Given the description of an element on the screen output the (x, y) to click on. 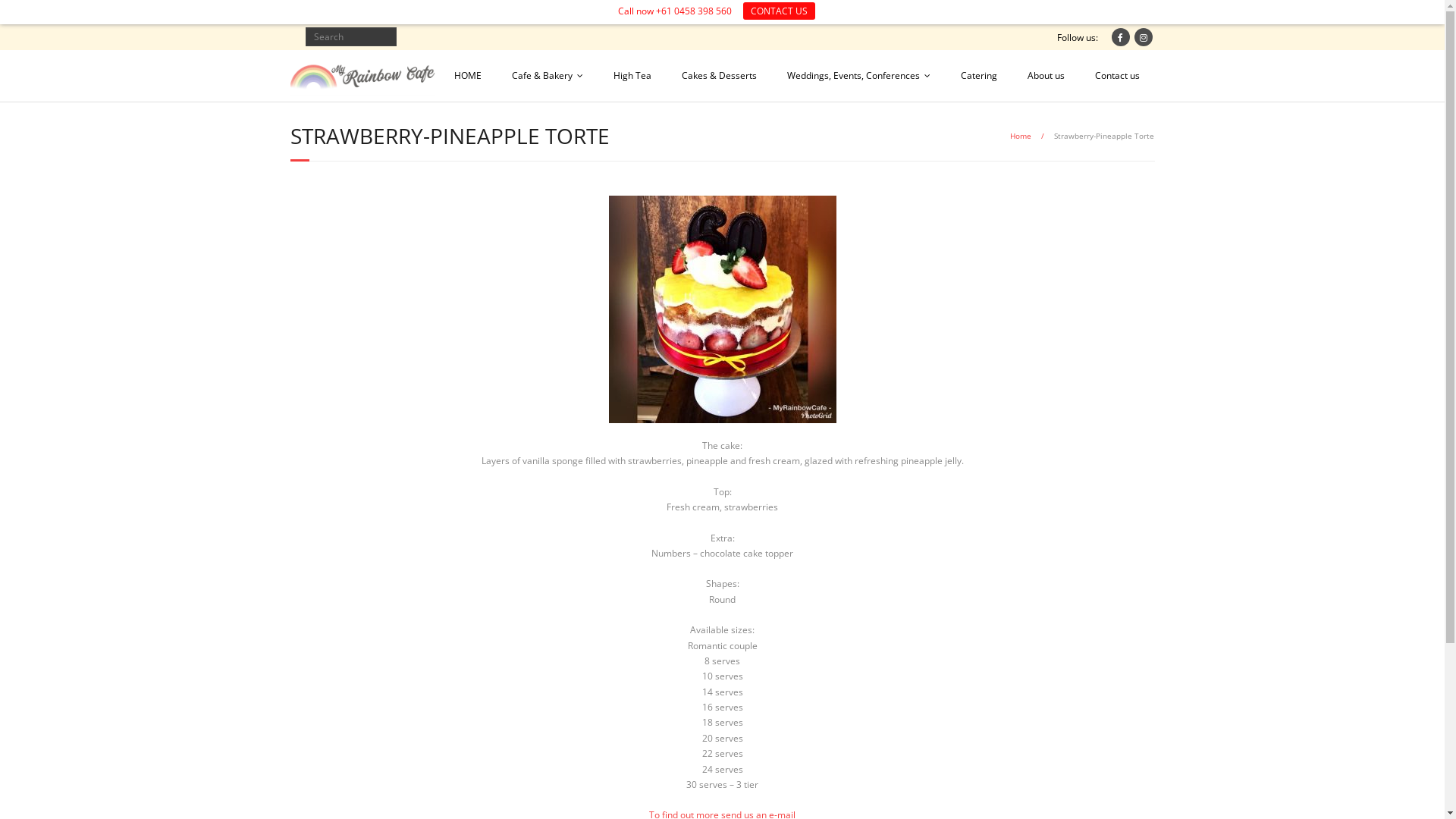
HOME Element type: text (466, 75)
High Tea Element type: text (631, 75)
Cakes & Desserts Element type: text (718, 75)
Home Element type: text (1020, 135)
About us Element type: text (1045, 75)
Catering Element type: text (977, 75)
Cafe & Bakery Element type: text (546, 75)
Contact us Element type: text (1116, 75)
CONTACT US Element type: text (778, 10)
Weddings, Events, Conferences Element type: text (858, 75)
Search Element type: text (26, 14)
